Given the description of an element on the screen output the (x, y) to click on. 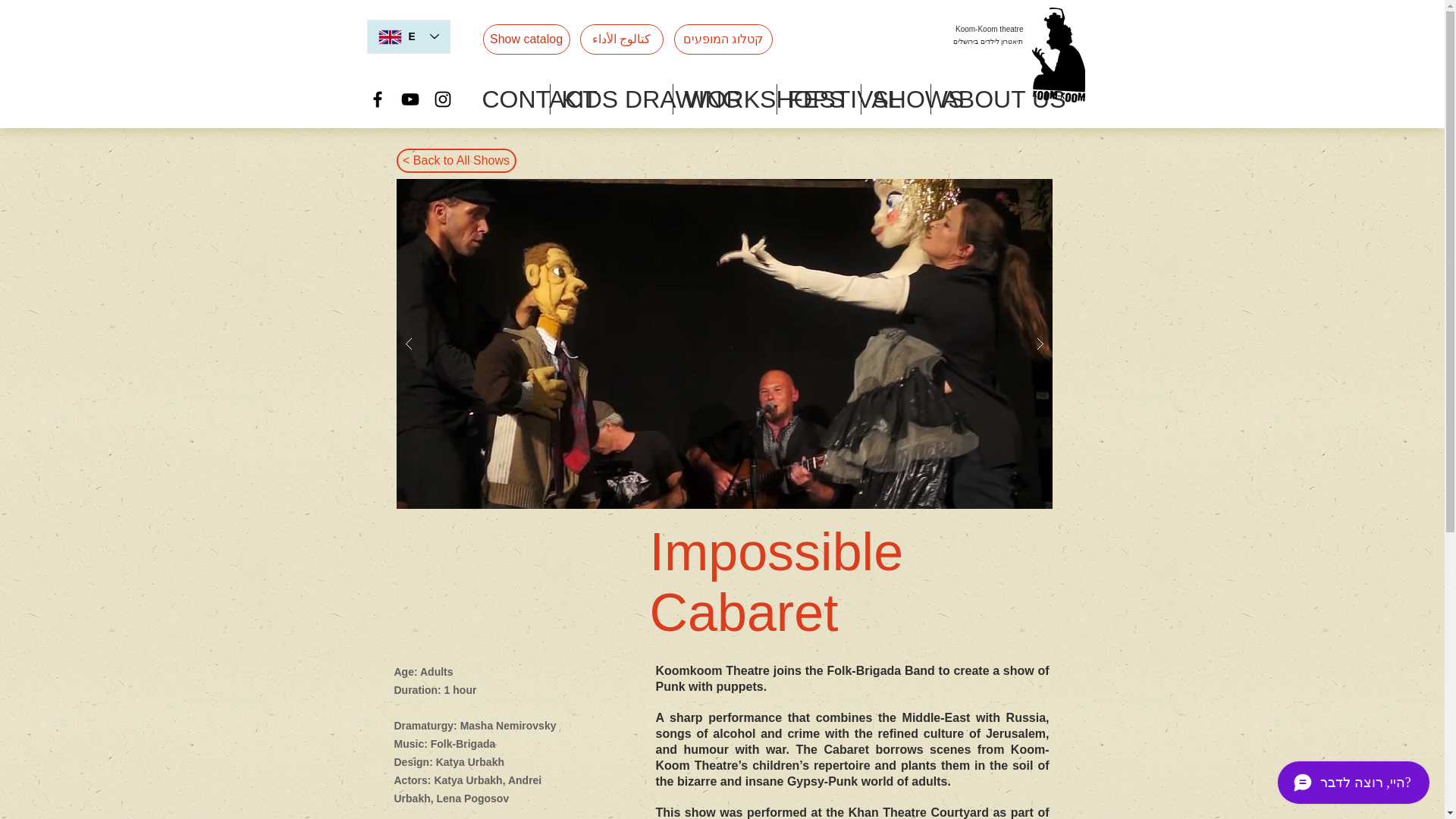
CONTACT (509, 99)
KIDS DRAWING (609, 99)
Show catalog (525, 39)
